Given the description of an element on the screen output the (x, y) to click on. 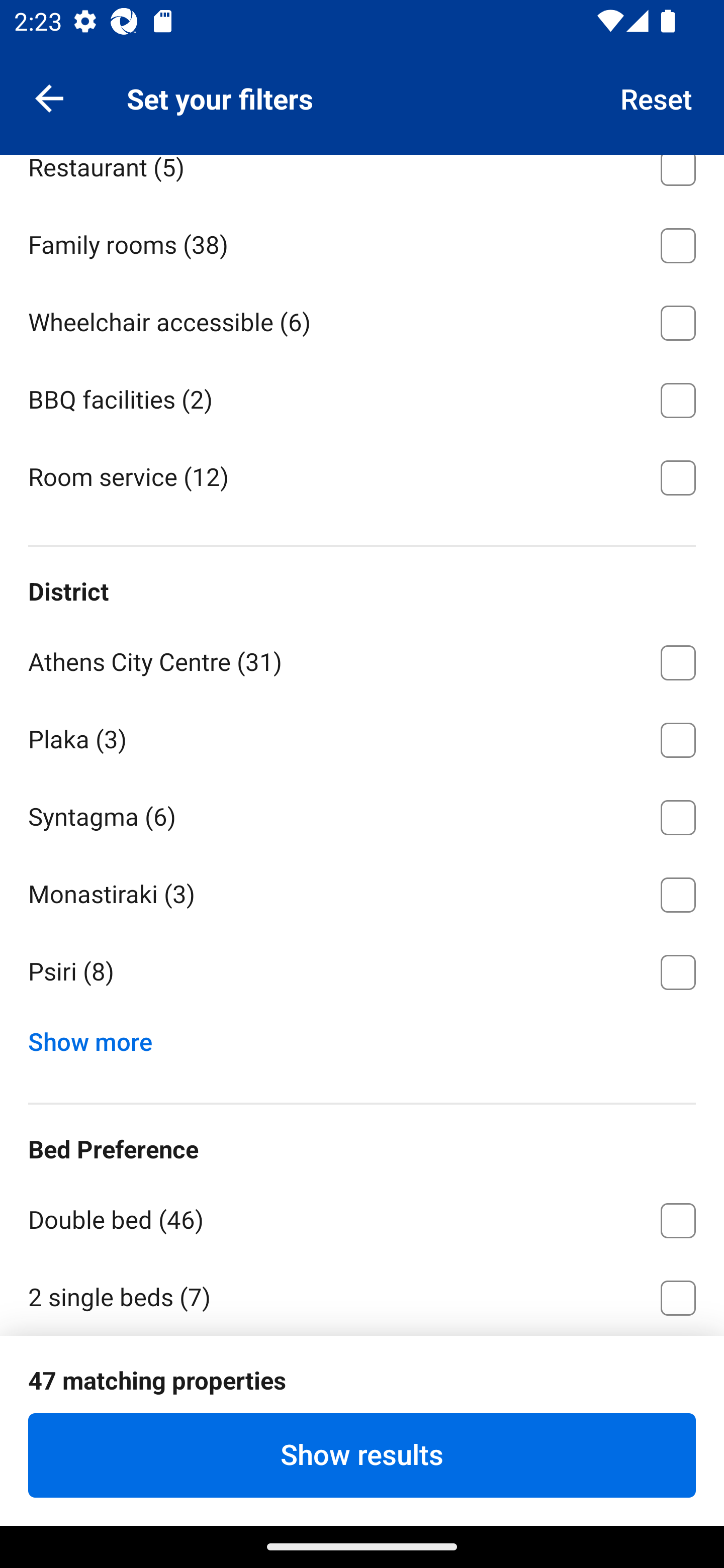
Airport shuttle ⁦(34) (361, 86)
Navigate up (49, 97)
Reset (656, 97)
Restaurant ⁦(5) (361, 179)
Family rooms ⁦(38) (361, 241)
Wheelchair accessible ⁦(6) (361, 319)
BBQ facilities ⁦(2) (361, 397)
Room service ⁦(12) (361, 475)
Athens City Centre ⁦(31) (361, 658)
Plaka ⁦(3) (361, 736)
Syntagma ⁦(6) (361, 814)
Monastiraki ⁦(3) (361, 890)
Psiri ⁦(8) (361, 971)
Show more (97, 1037)
Double bed ⁦(46) (361, 1217)
2 single beds ⁦(7) (361, 1295)
Show results (361, 1454)
